Given the description of an element on the screen output the (x, y) to click on. 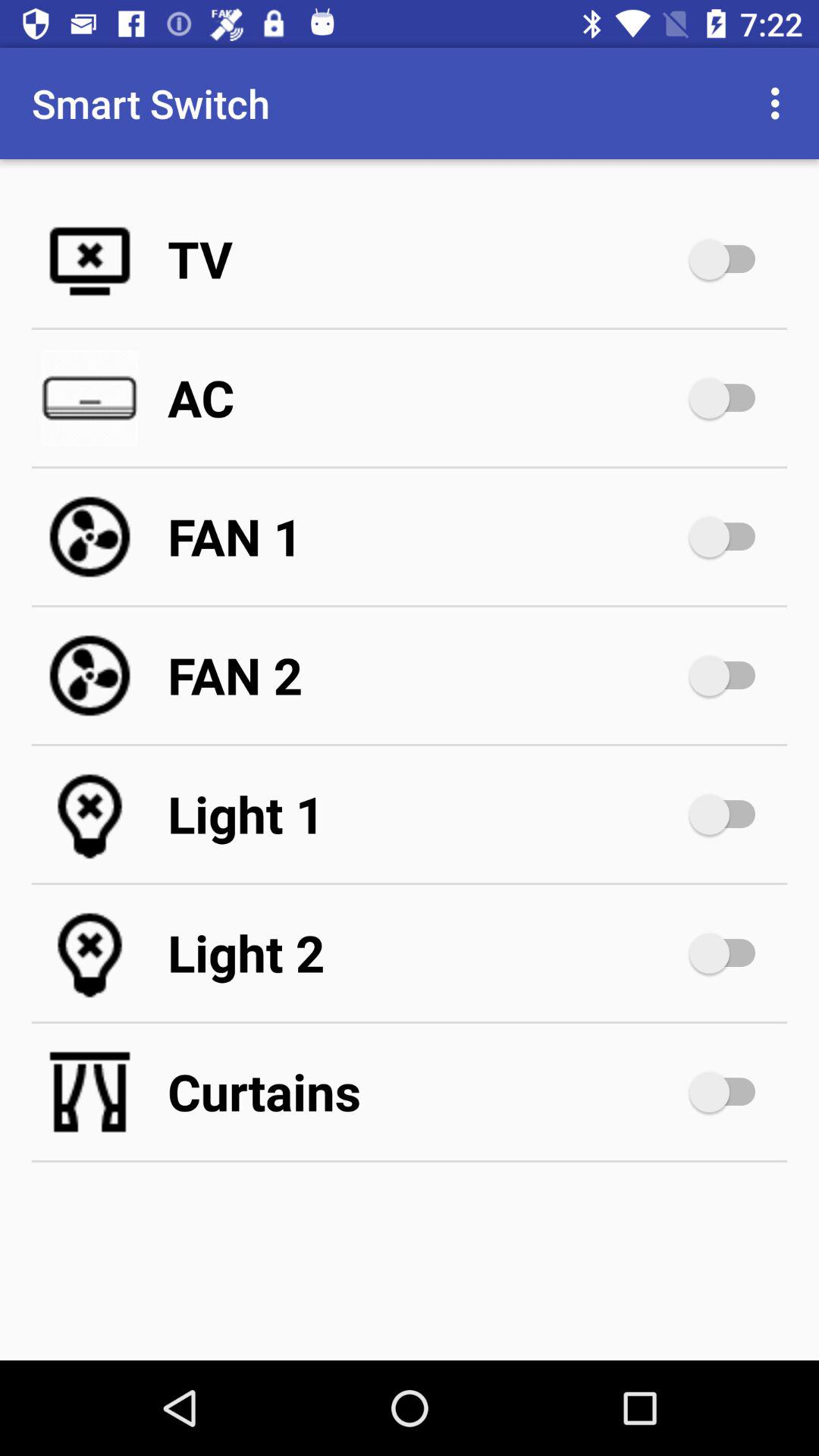
toggle light 2 (729, 953)
